Given the description of an element on the screen output the (x, y) to click on. 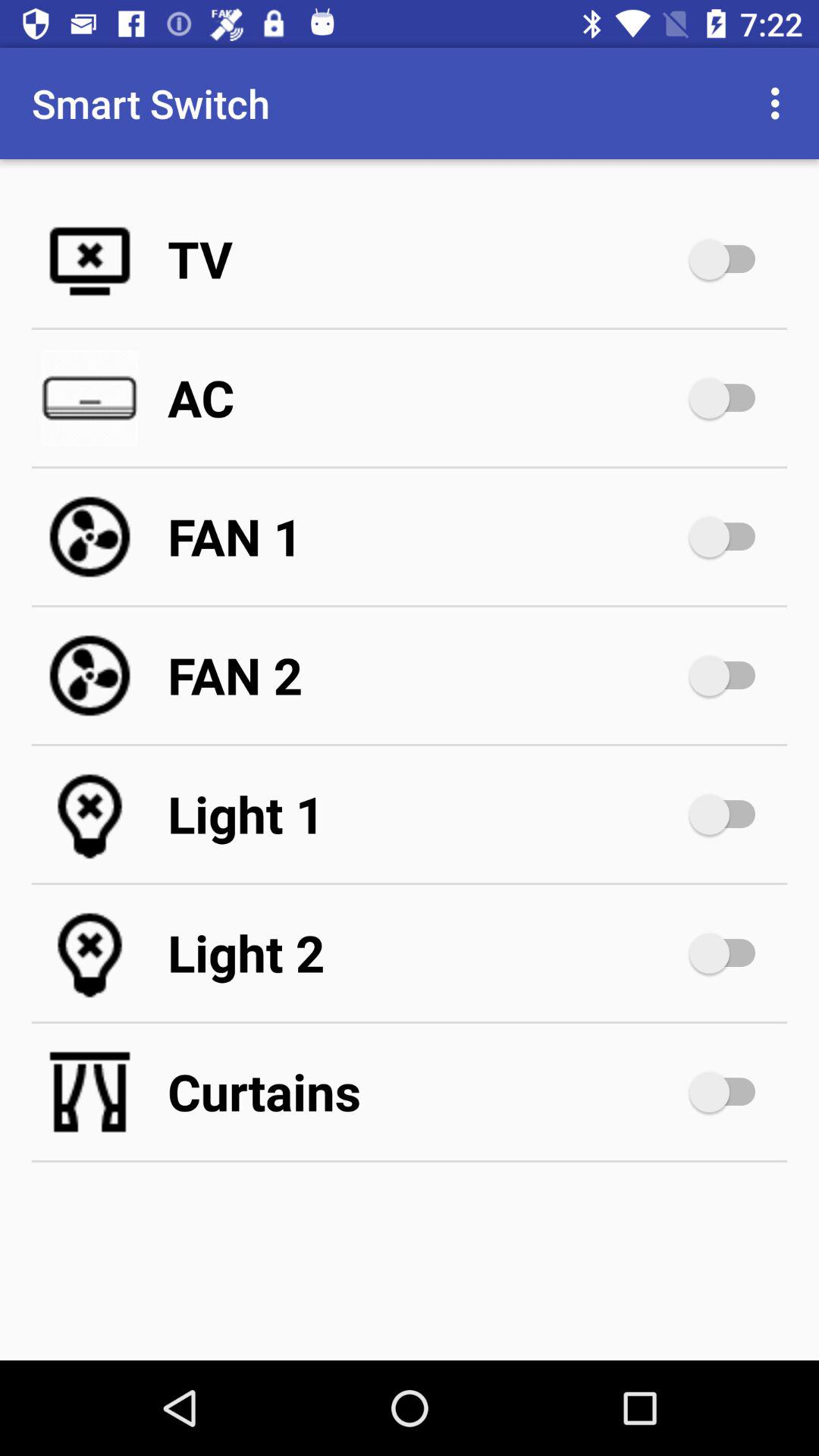
toggle light 2 (729, 953)
